Given the description of an element on the screen output the (x, y) to click on. 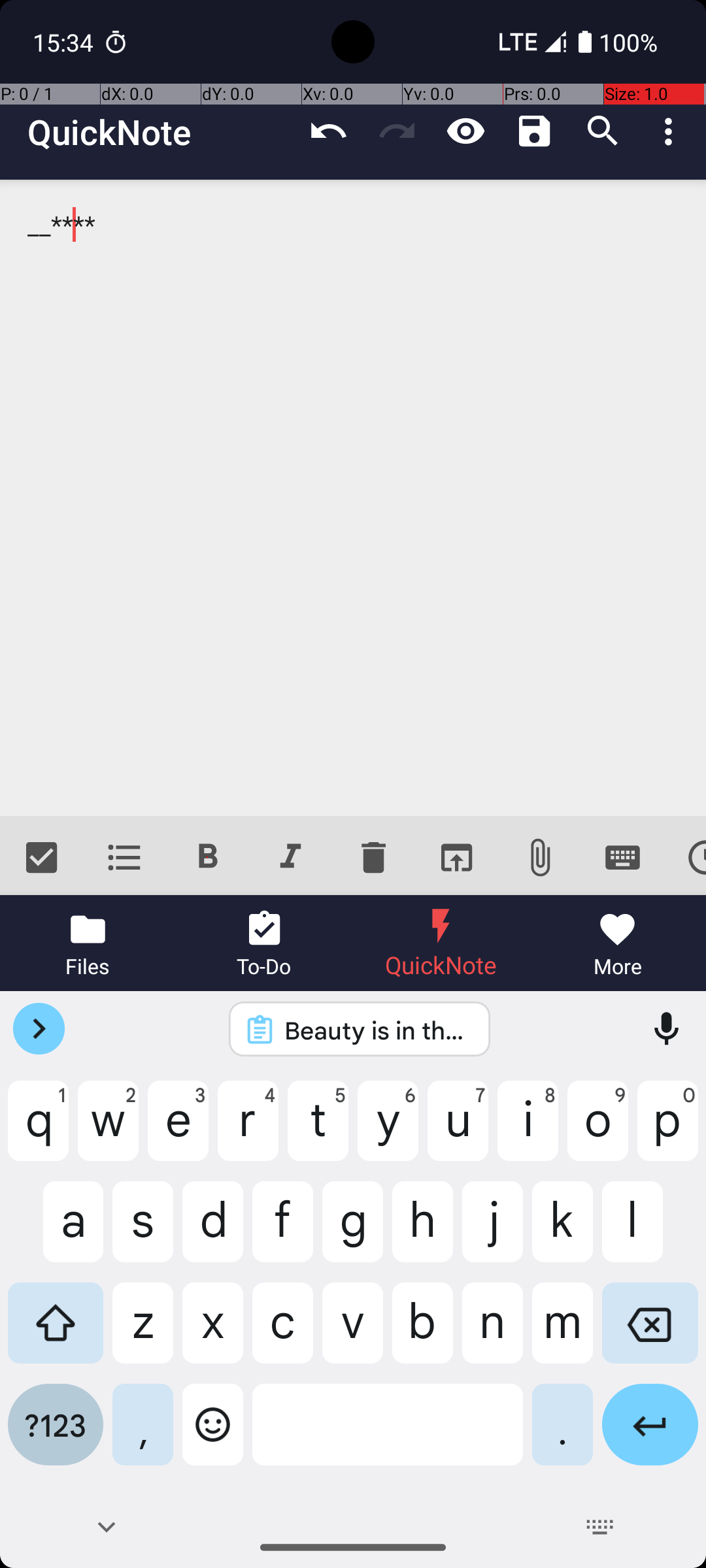
__**** Element type: android.widget.EditText (353, 497)
Beauty is in the eye of the beholder. Element type: android.widget.TextView (376, 1029)
